Given the description of an element on the screen output the (x, y) to click on. 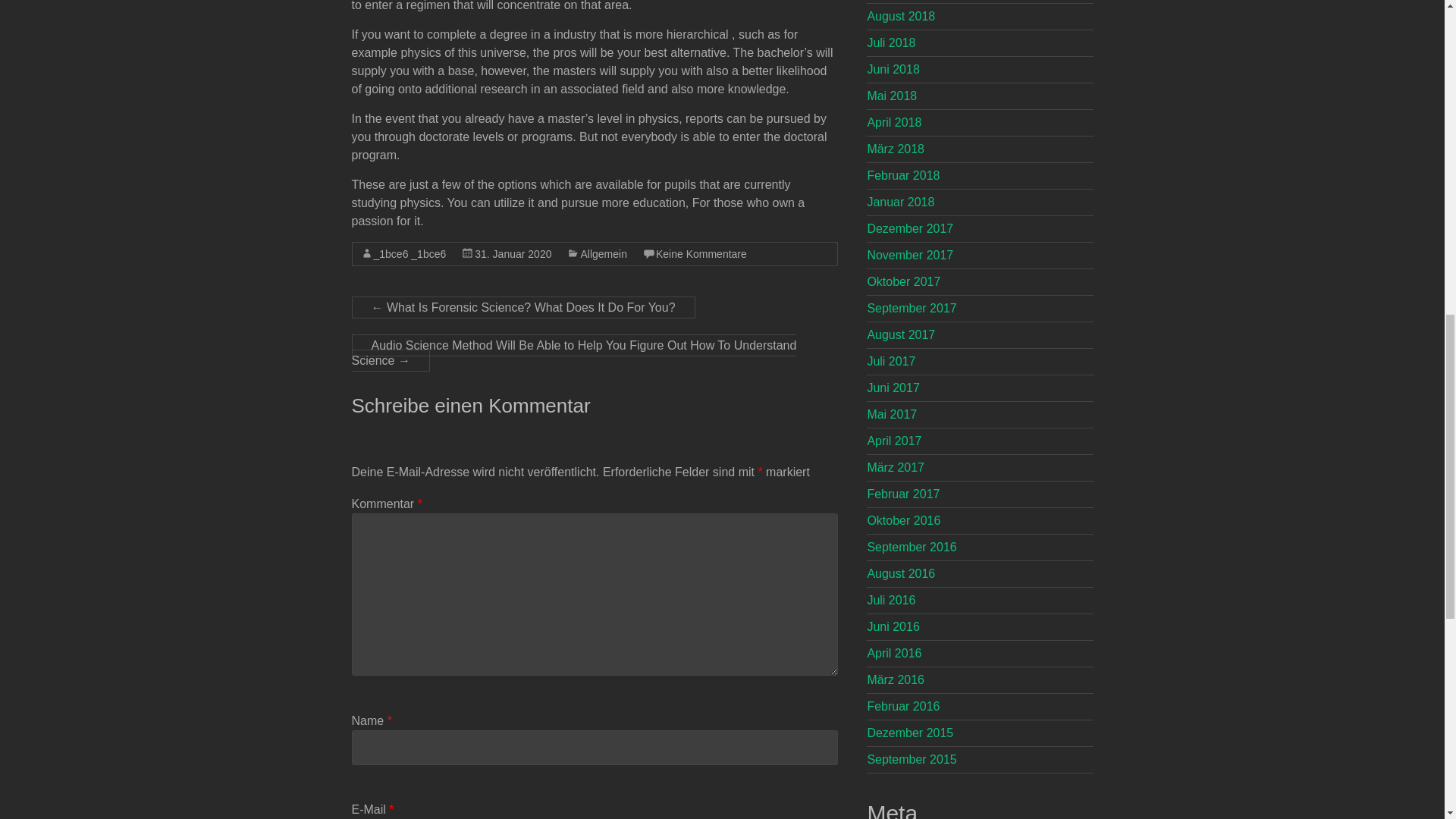
Allgemein (602, 254)
Keine Kommentare (701, 254)
13:55 (512, 254)
31. Januar 2020 (512, 254)
